Given the description of an element on the screen output the (x, y) to click on. 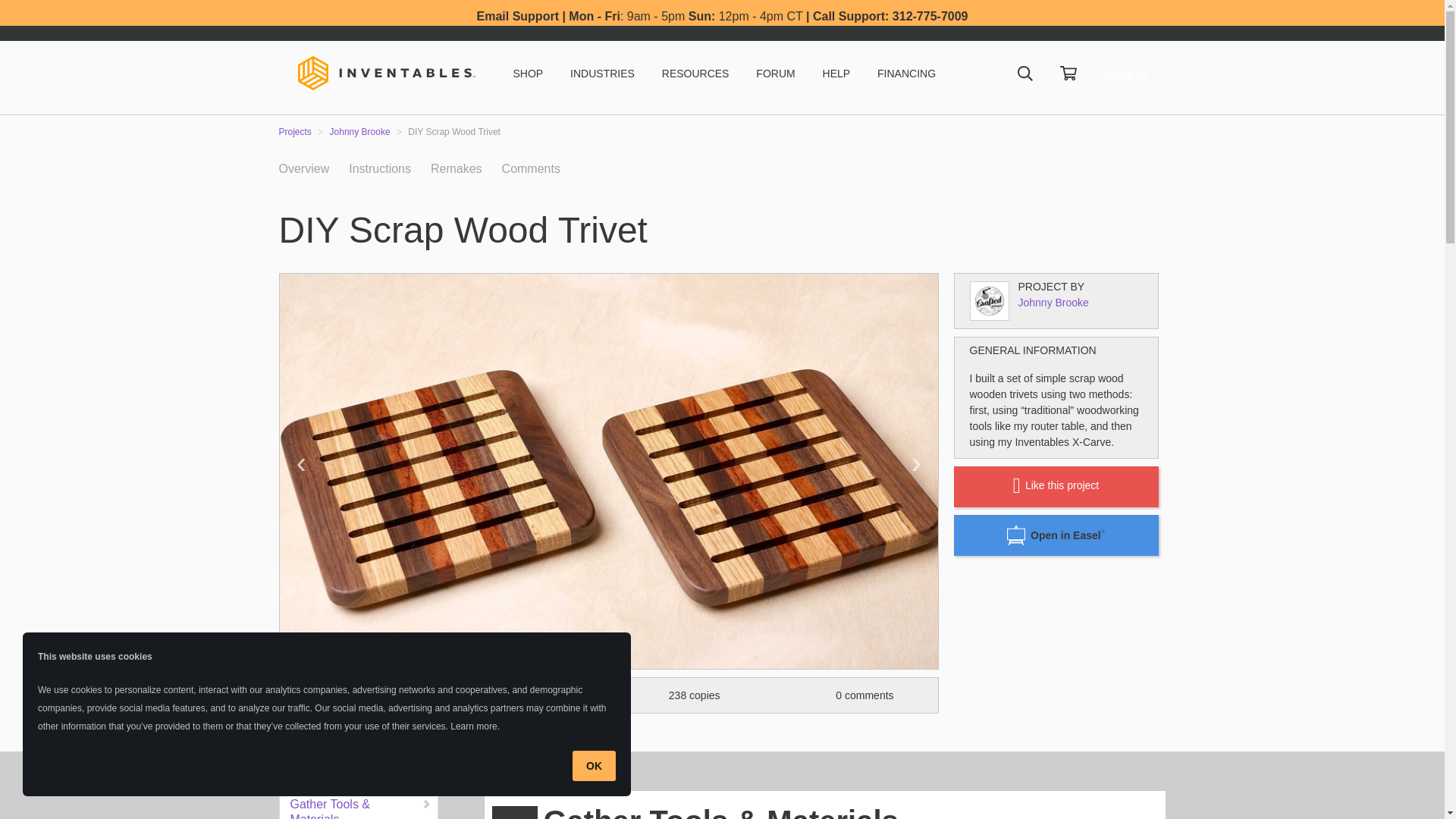
RESOURCES (695, 73)
FINANCING (906, 73)
FORUM (774, 73)
SIGN-IN (1125, 74)
Email Support (518, 15)
Opens a widget where you can find more information (1374, 792)
INDUSTRIES (602, 73)
HELP (836, 73)
SHOP (527, 73)
